Given the description of an element on the screen output the (x, y) to click on. 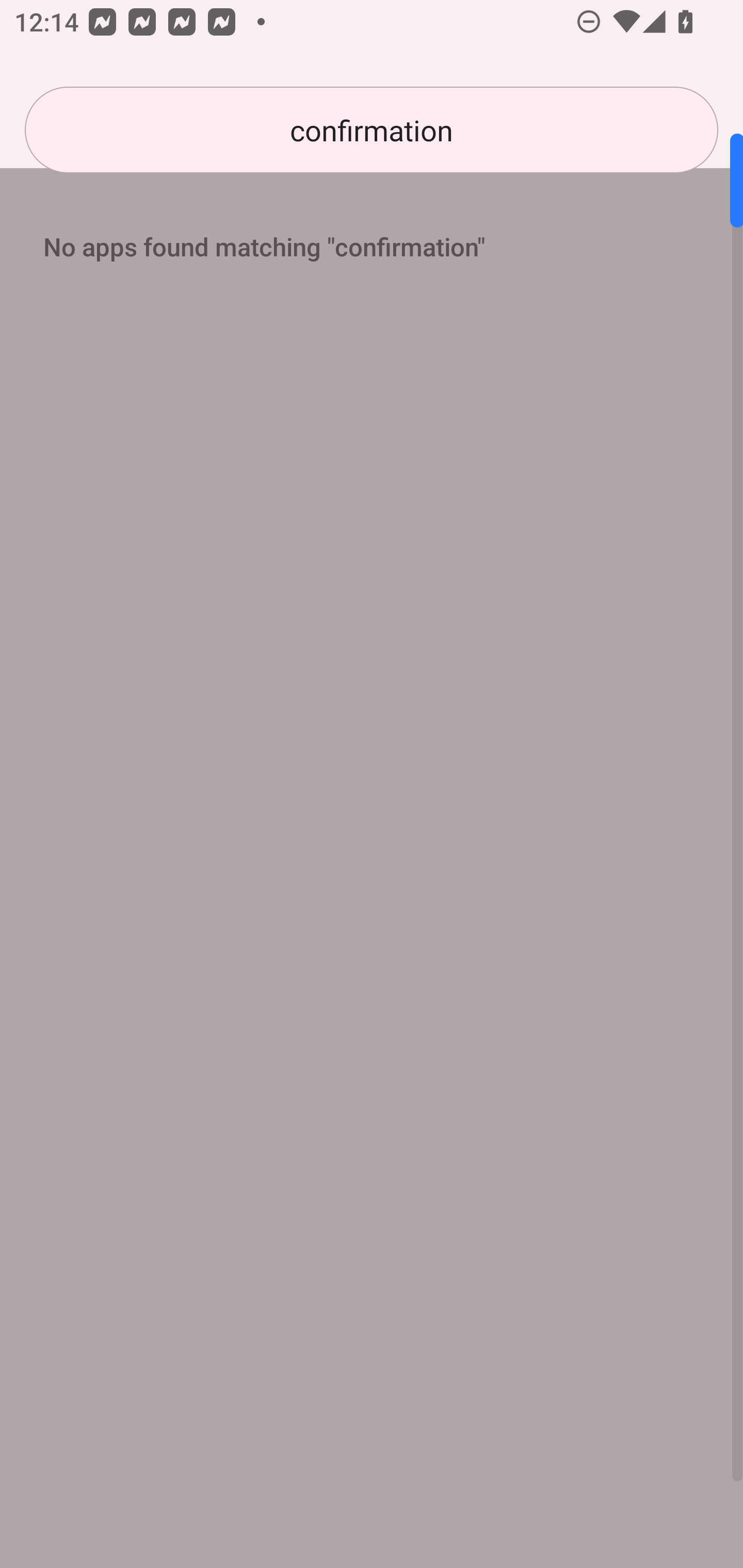
confirmation (371, 130)
